Given the description of an element on the screen output the (x, y) to click on. 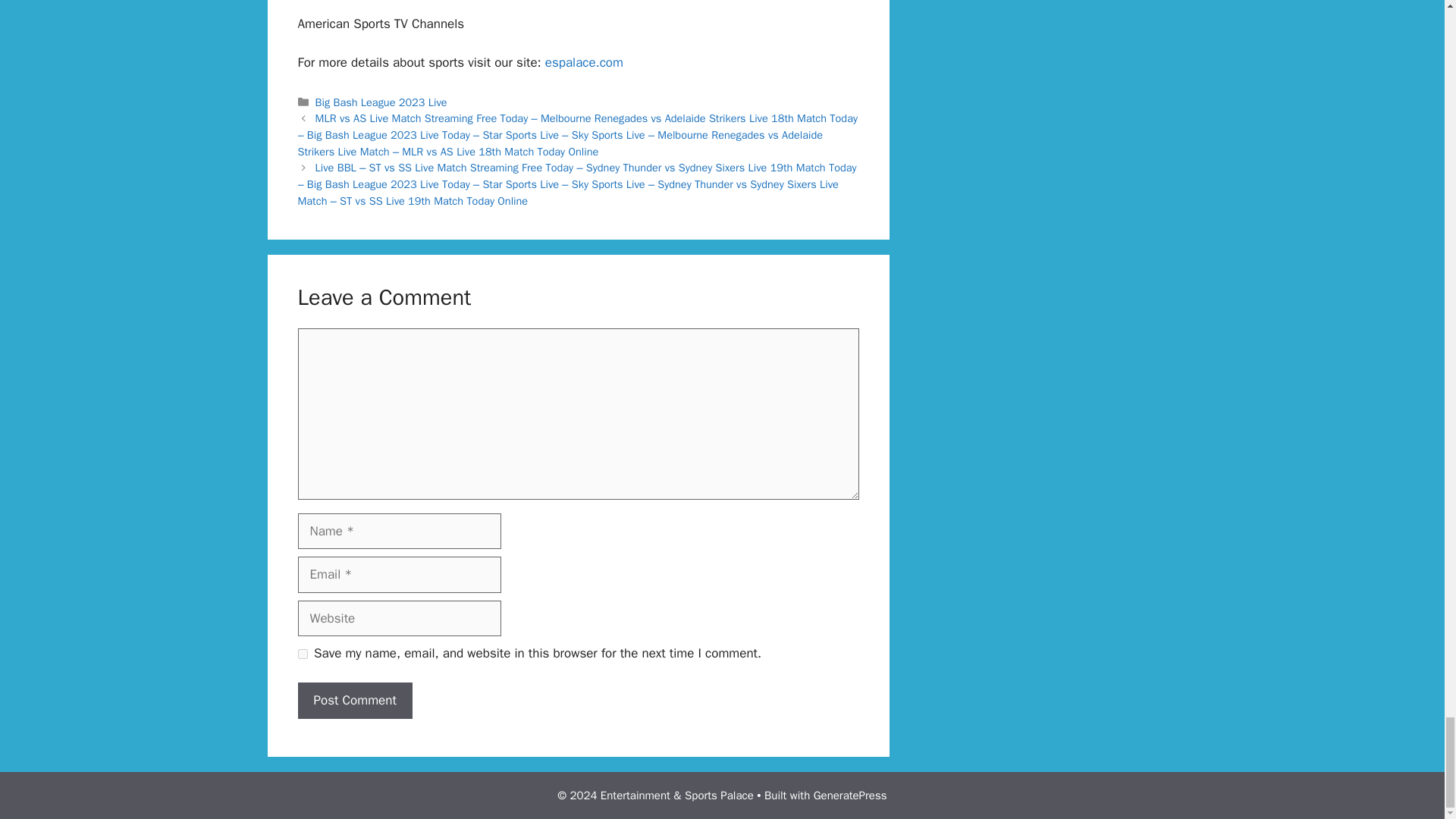
espalace.com (583, 62)
yes (302, 654)
Post Comment (354, 700)
Post Comment (354, 700)
Big Bash League 2023 Live (380, 101)
